Given the description of an element on the screen output the (x, y) to click on. 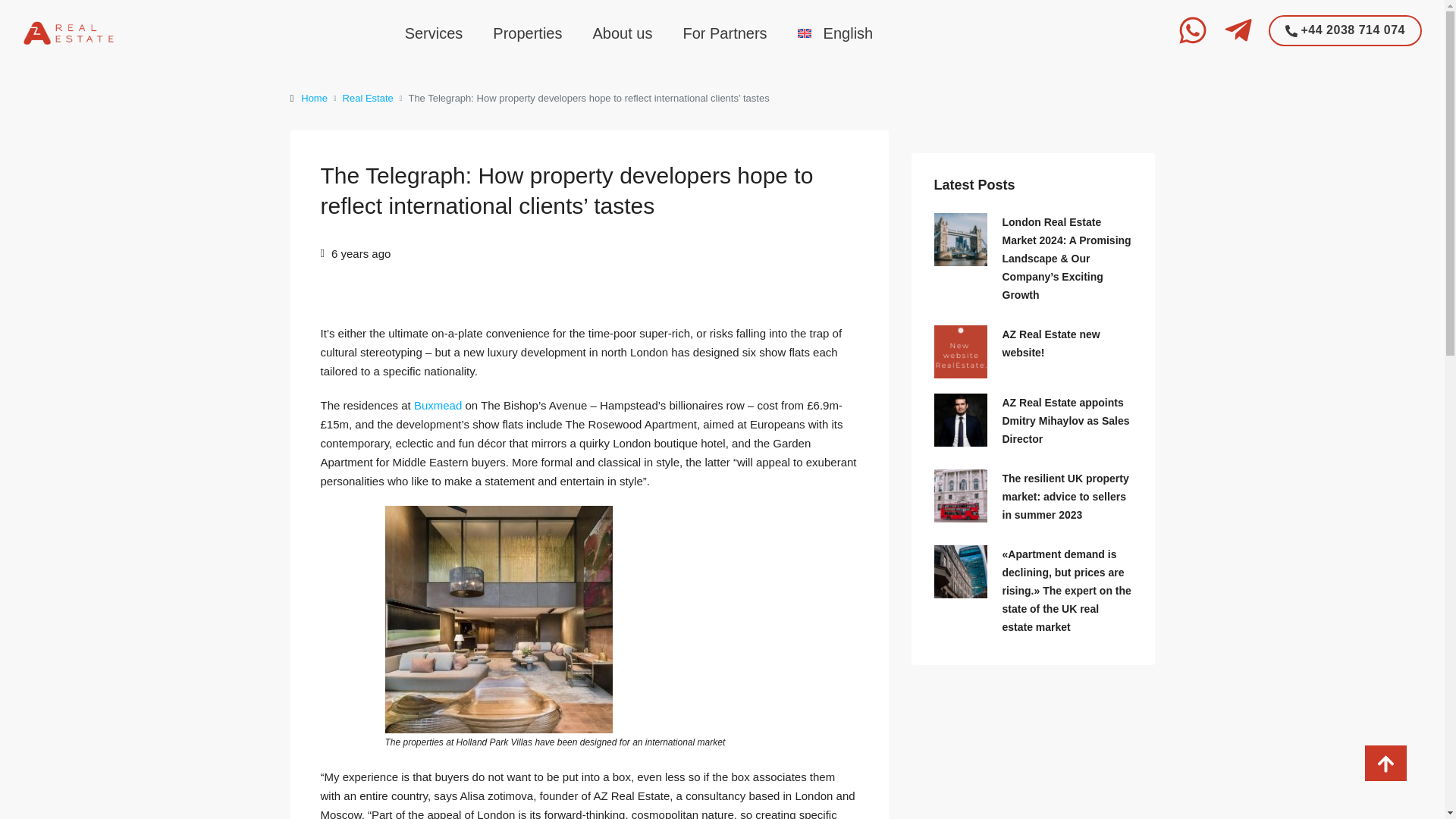
English (835, 32)
Properties (526, 32)
About us (623, 32)
For Partners (723, 32)
Services (434, 32)
English (835, 32)
